Given the description of an element on the screen output the (x, y) to click on. 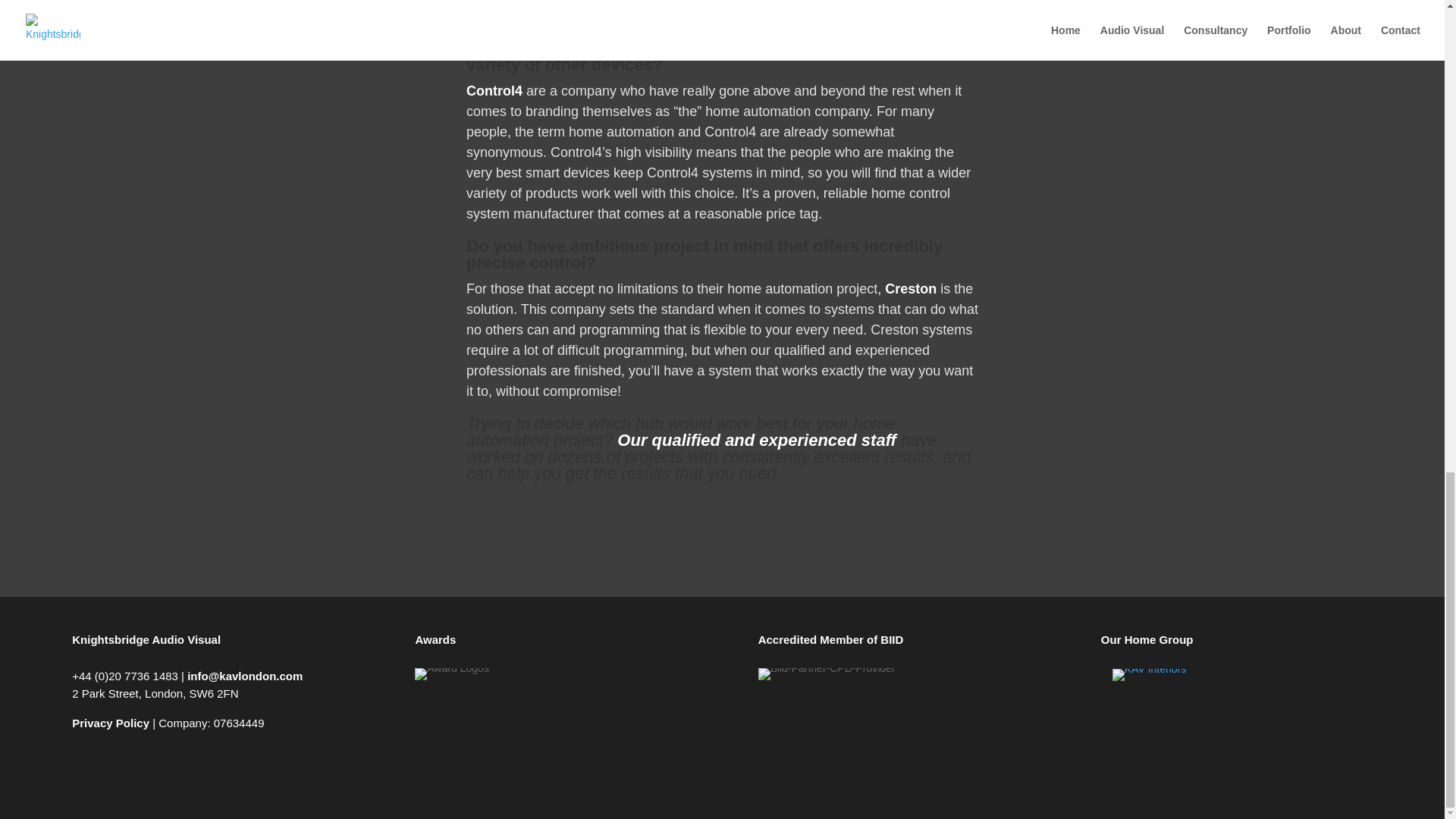
Privacy Policy (110, 722)
Creston (910, 288)
Control4 (493, 90)
KAV Interiors (1149, 674)
Award Logos (450, 674)
Biid-Partner-CPD-Provider (826, 674)
Contact (756, 439)
Our qualified and experienced staff (756, 439)
